Given the description of an element on the screen output the (x, y) to click on. 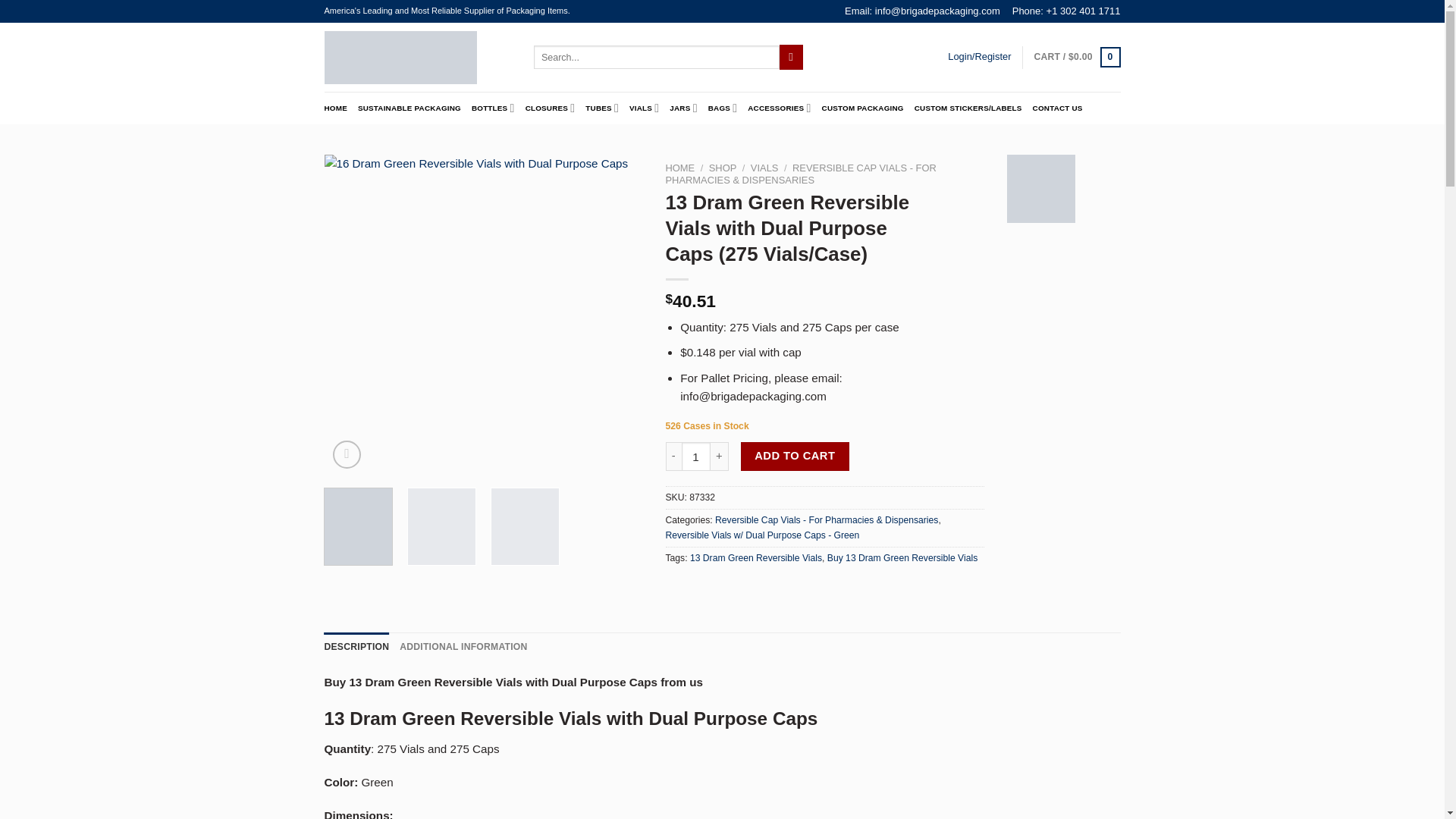
BOTTLES (493, 107)
Search (790, 56)
TUBES (601, 107)
Brigade Packaging - Wholesale Packaging Supplier in USA (417, 56)
SUSTAINABLE PACKAGING (409, 107)
Cart (1076, 56)
1 (695, 456)
Zoom (347, 454)
CLOSURES (550, 107)
